Given the description of an element on the screen output the (x, y) to click on. 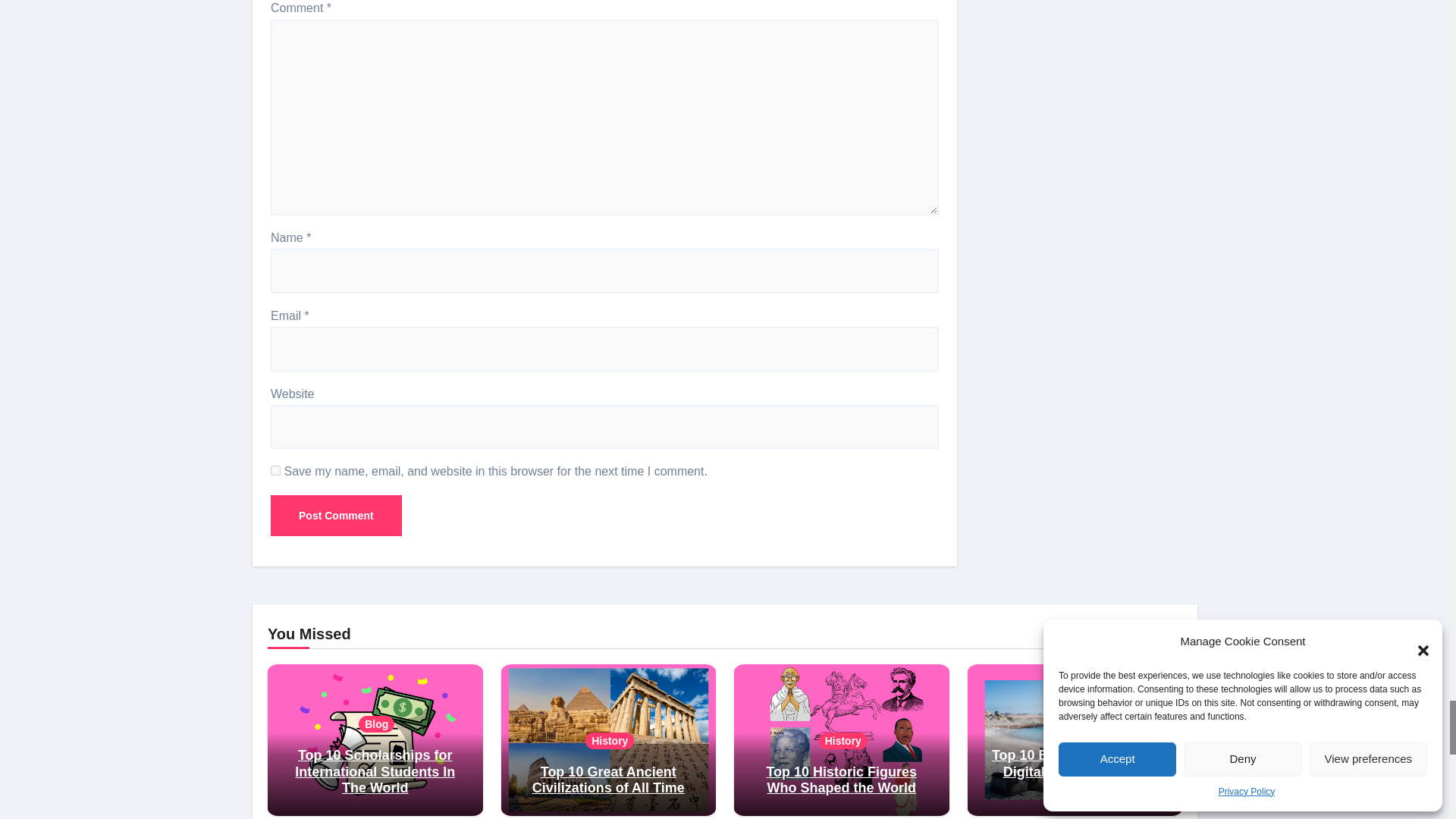
Post Comment (335, 515)
yes (275, 470)
